Given the description of an element on the screen output the (x, y) to click on. 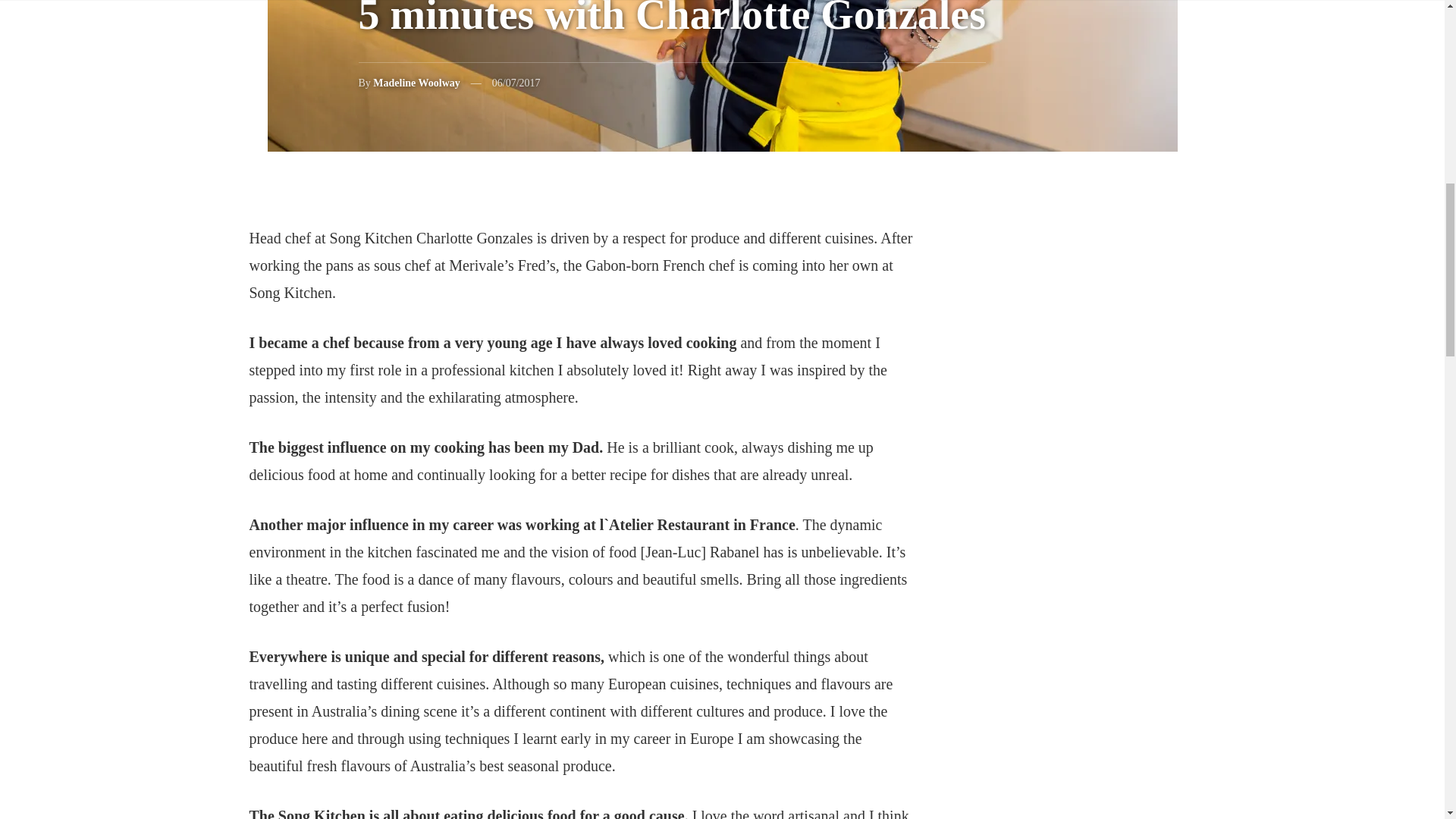
3rd party ad content (1100, 767)
Madeline Woolway (416, 82)
